Given the description of an element on the screen output the (x, y) to click on. 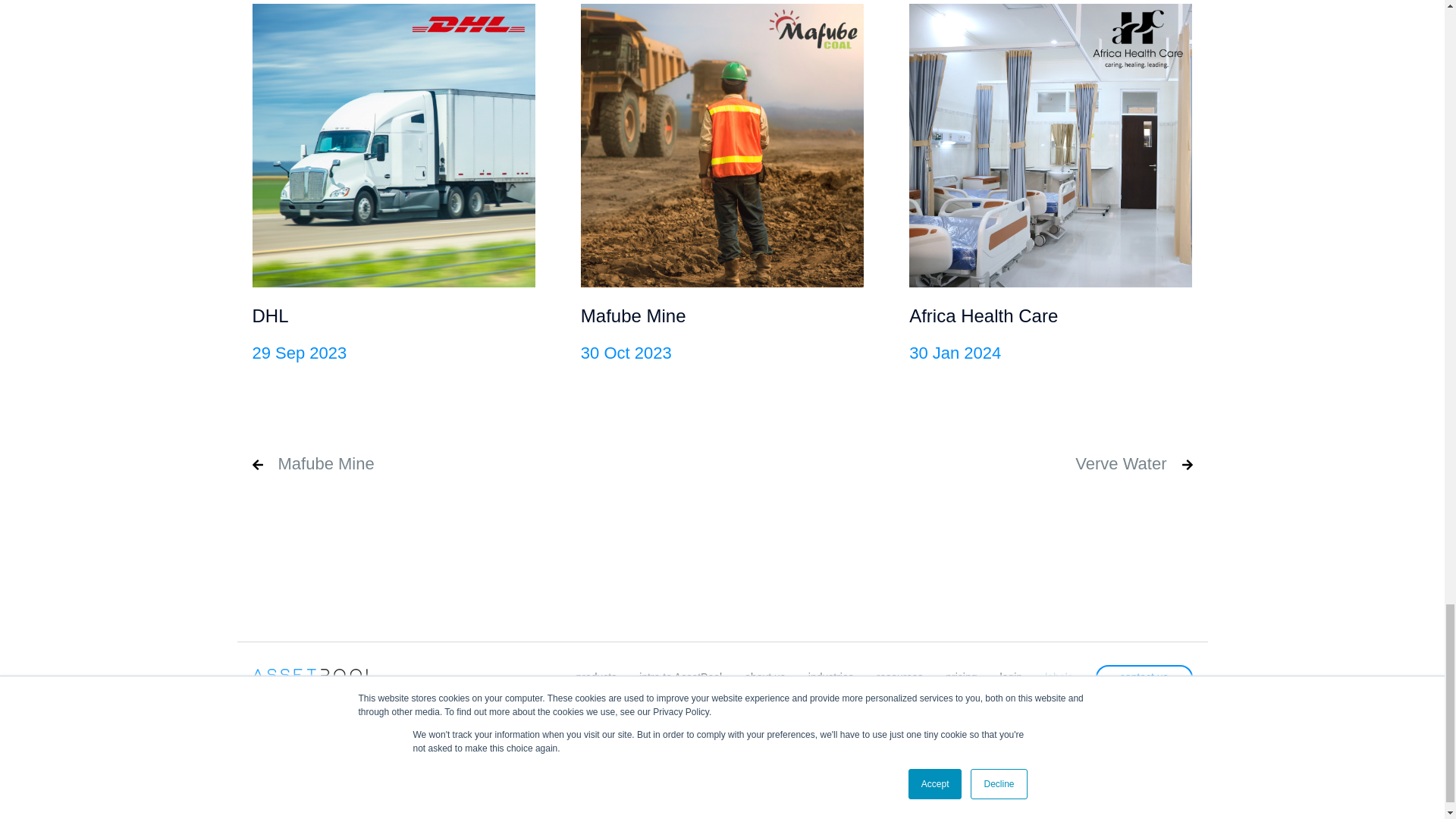
AssetPool Smart Inspection Software (315, 674)
